Given the description of an element on the screen output the (x, y) to click on. 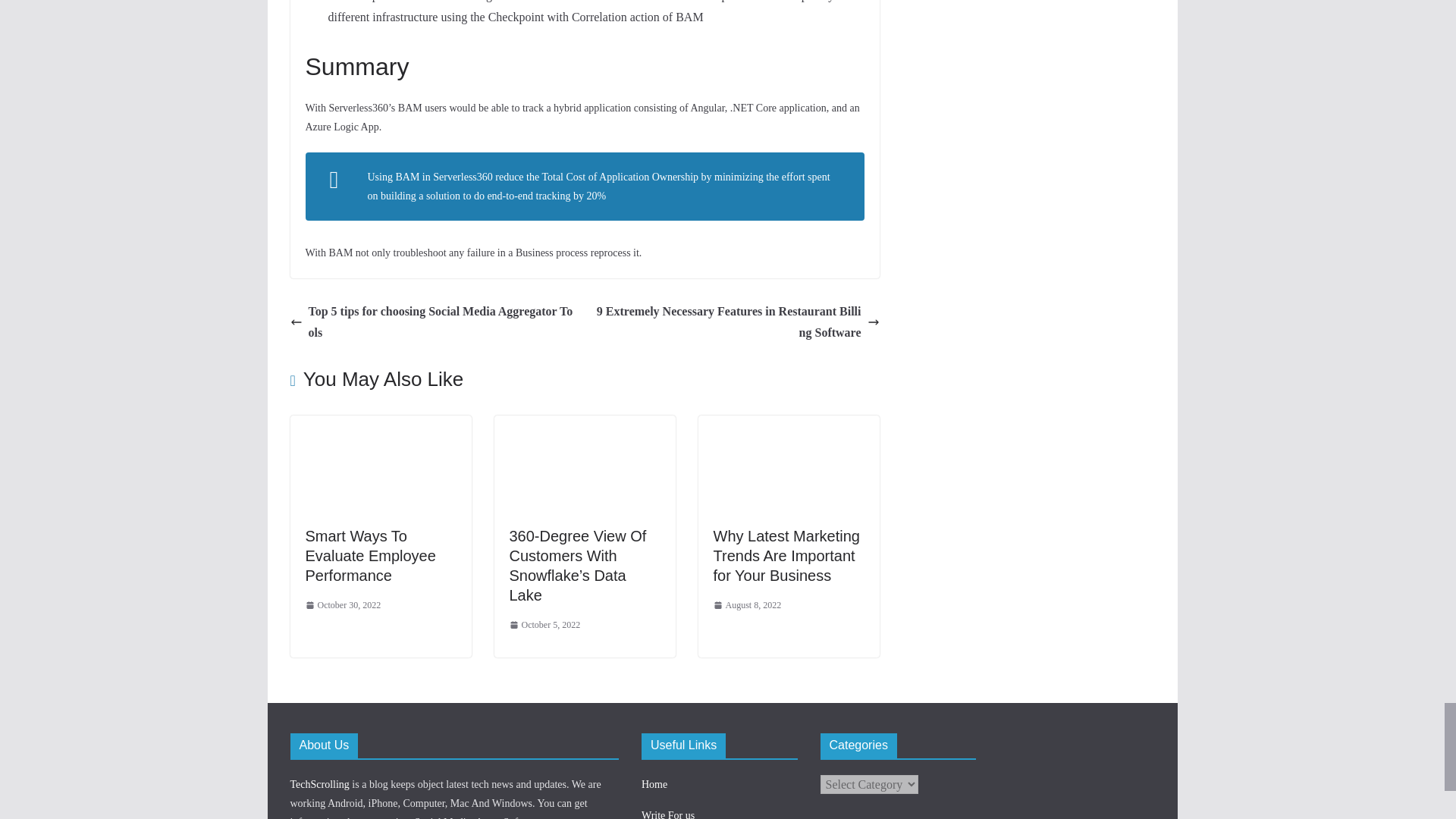
Why Latest Marketing Trends Are Important for Your Business (786, 555)
6:38 am (342, 605)
11:58 am (544, 625)
Top 5 tips for choosing Social Media Aggregator Tools (432, 322)
October 5, 2022 (544, 625)
Why Latest Marketing Trends Are Important for Your Business (788, 425)
Smart Ways To Evaluate Employee Performance (379, 425)
Smart Ways To Evaluate Employee Performance (369, 555)
Smart Ways To Evaluate Employee Performance (369, 555)
